Given the description of an element on the screen output the (x, y) to click on. 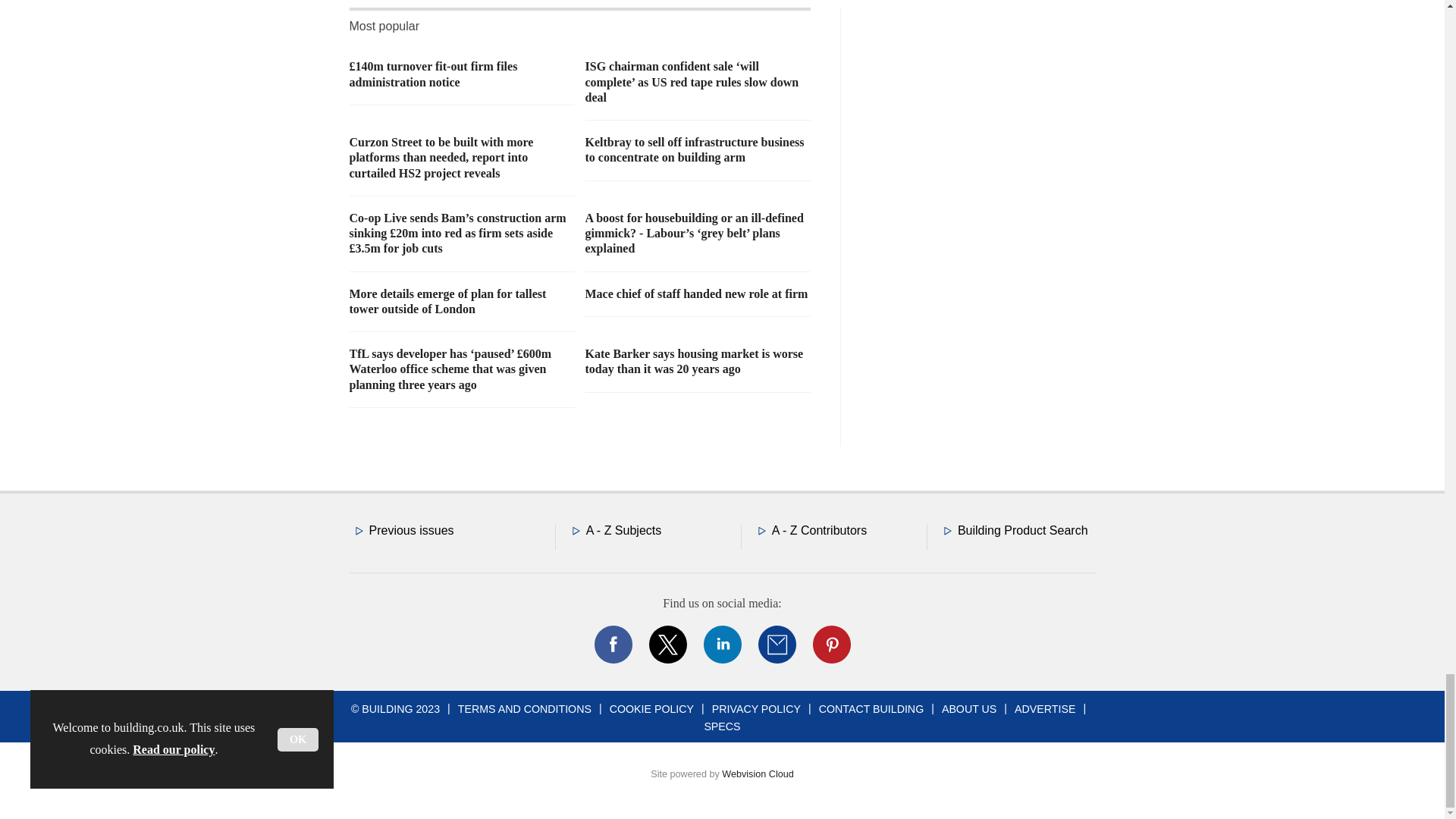
Connect with us on Facebook (611, 644)
Connect with us on Pinterest (830, 644)
Connect with us on Linked in (721, 644)
Connect with us on Twitter (667, 644)
Email us (776, 644)
